Given the description of an element on the screen output the (x, y) to click on. 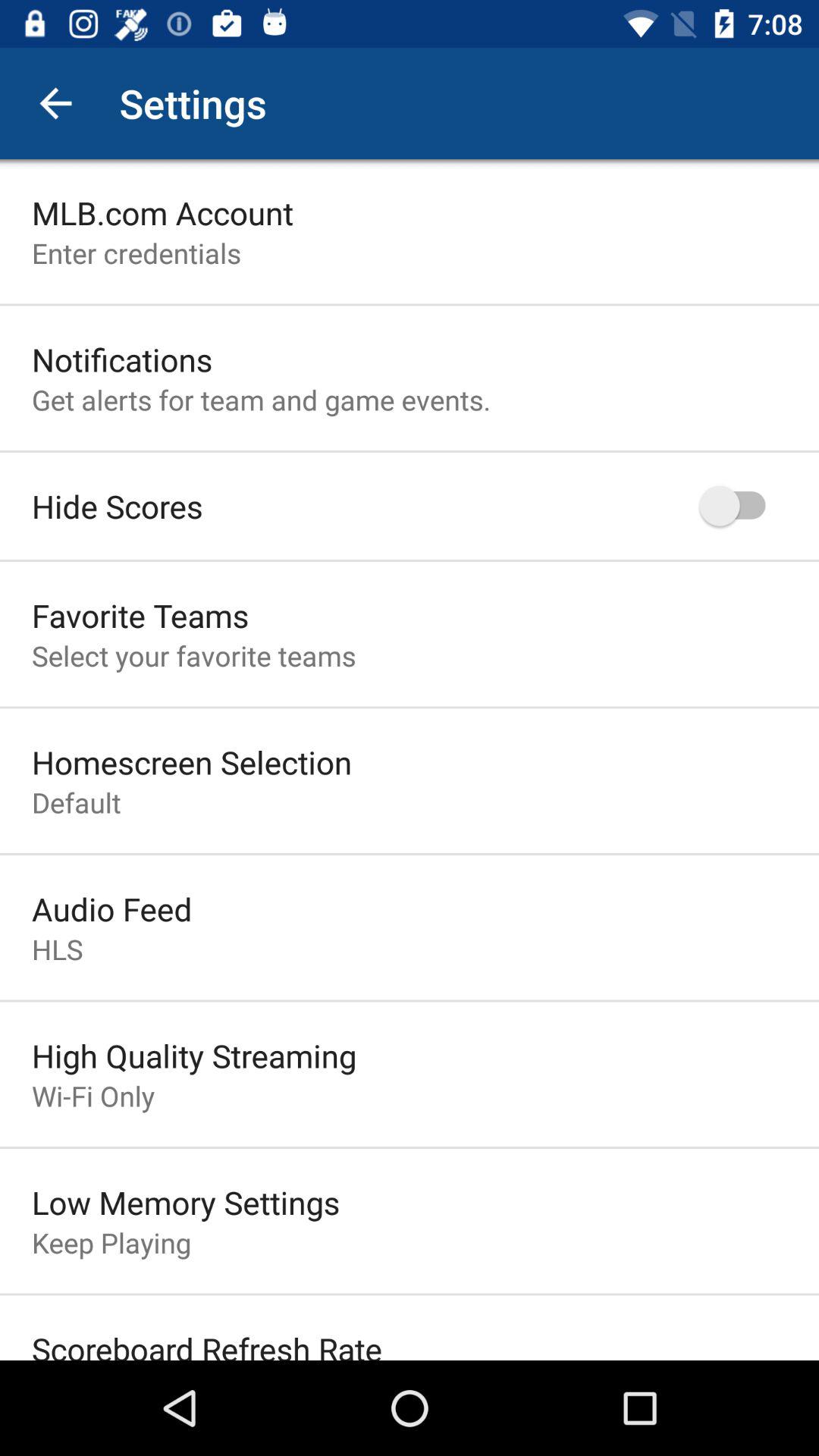
swipe until get alerts for icon (260, 399)
